Given the description of an element on the screen output the (x, y) to click on. 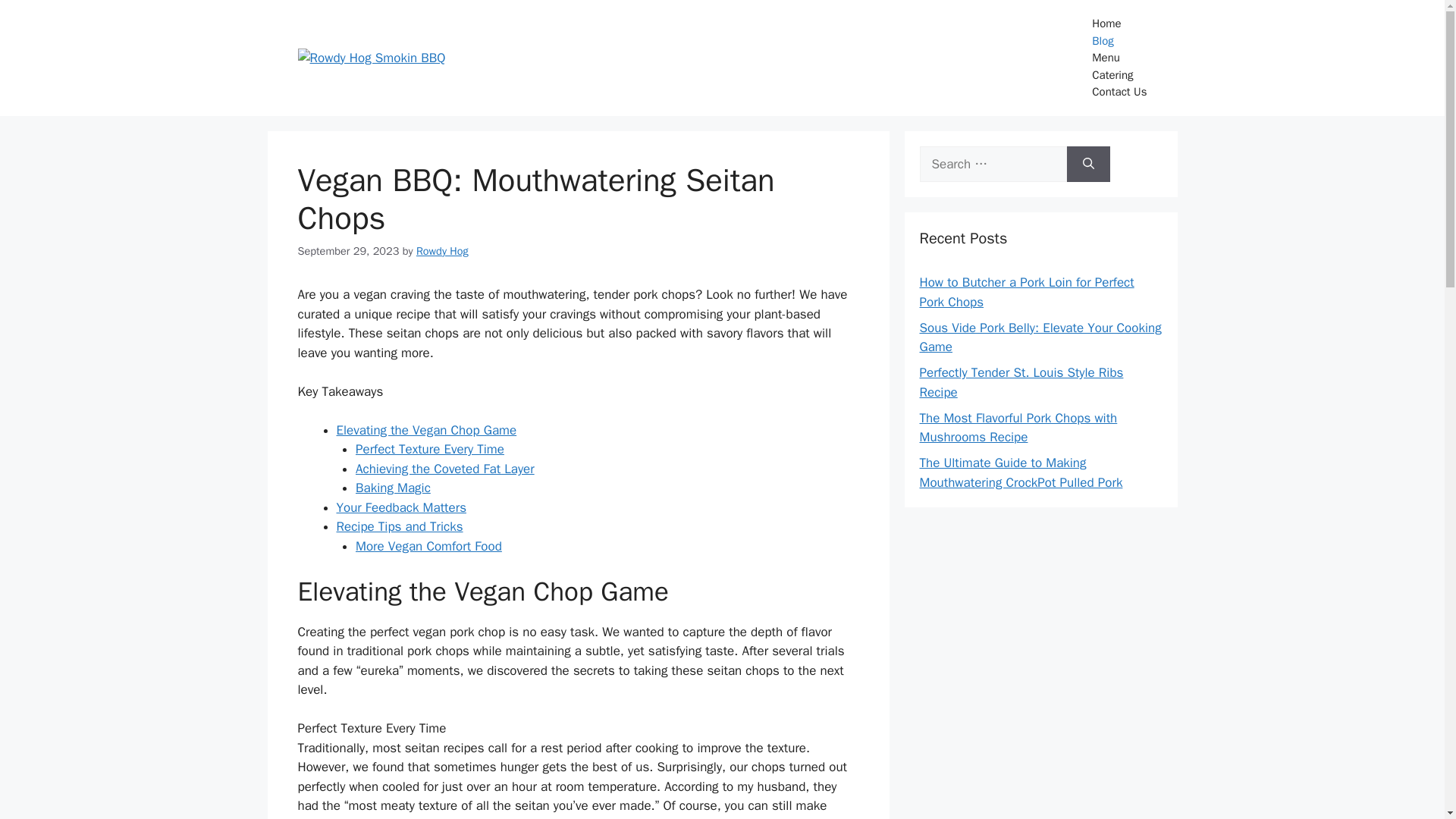
The Most Flavorful Pork Chops with Mushrooms Recipe (1017, 427)
Home (1119, 23)
More Vegan Comfort Food (428, 546)
Rowdy Hog (442, 250)
Achieving the Coveted Fat Layer (444, 468)
Blog (1119, 40)
Search for: (991, 163)
Sous Vide Pork Belly: Elevate Your Cooking Game (1039, 337)
Perfectly Tender St. Louis Style Ribs Recipe (1020, 382)
View all posts by Rowdy Hog (442, 250)
Catering (1119, 75)
Elevating the Vegan Chop Game (426, 430)
Contact Us (1119, 91)
Baking Magic (392, 487)
